Given the description of an element on the screen output the (x, y) to click on. 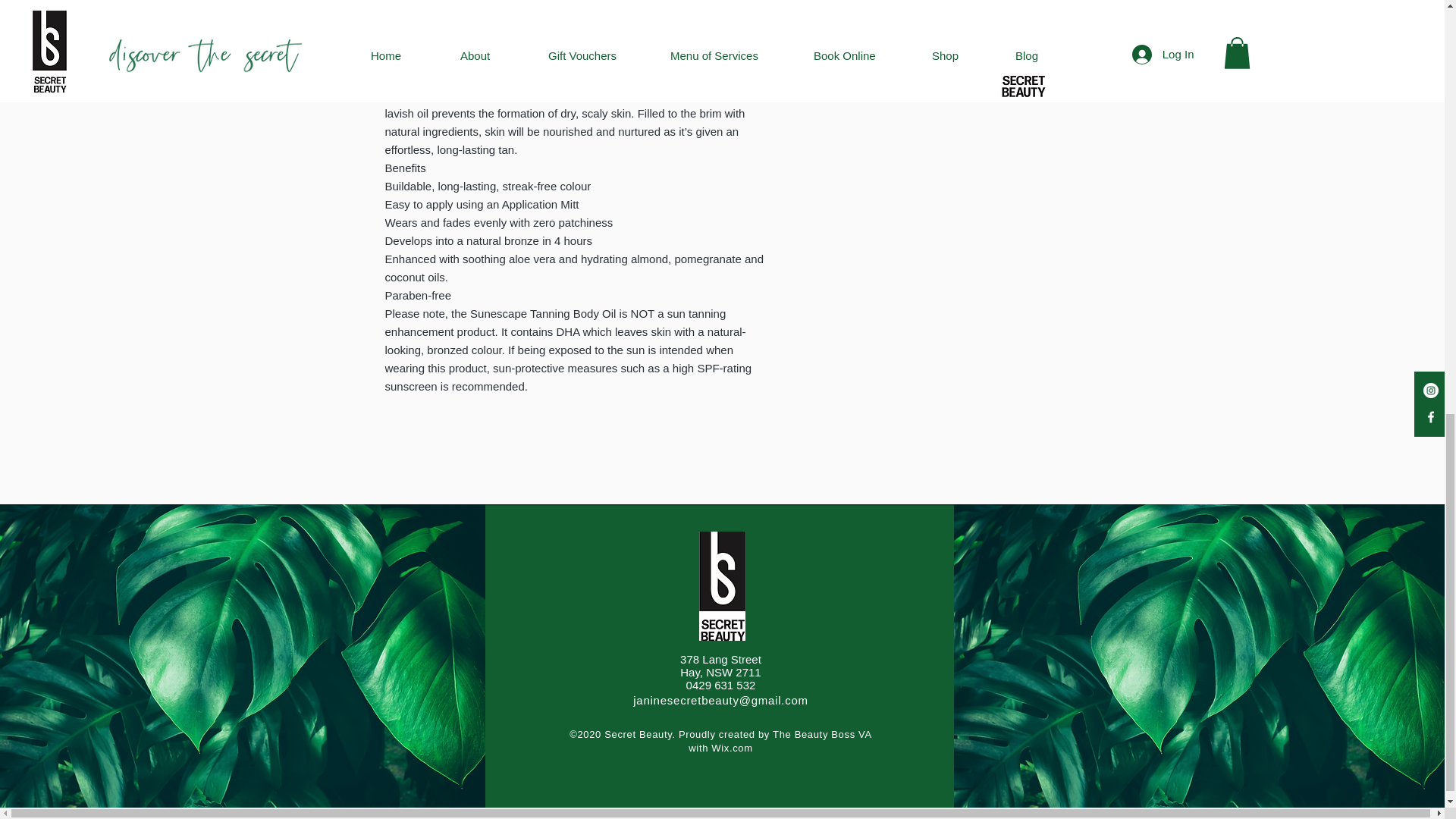
Wix.com (731, 747)
